Given the description of an element on the screen output the (x, y) to click on. 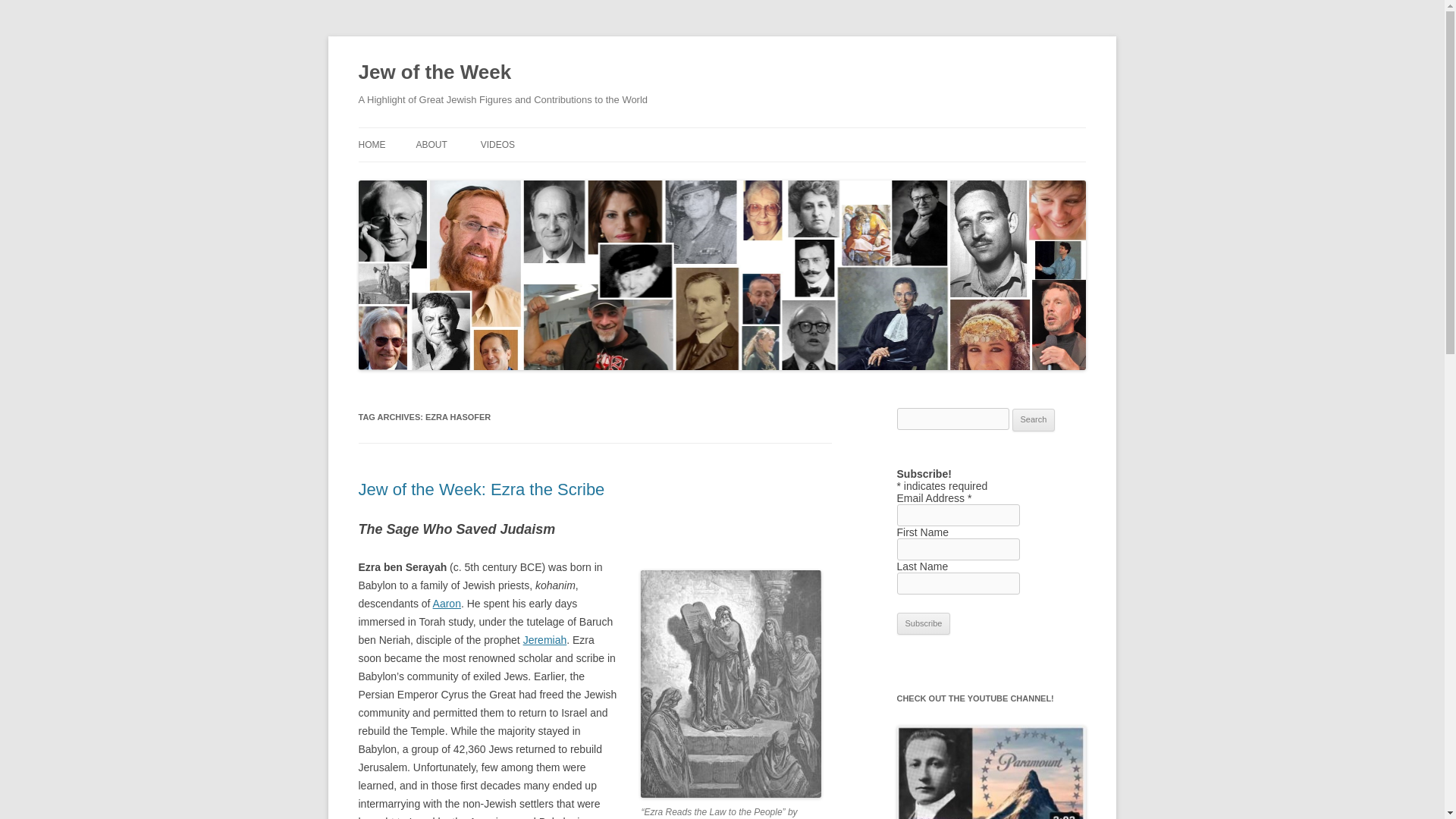
Jew of the Week (434, 72)
Subscribe (923, 623)
Search (1033, 419)
Jeremiah (544, 639)
ABOUT (430, 144)
Jew of the Week: Ezra the Scribe (481, 488)
Aaron (446, 603)
Subscribe (923, 623)
Jew of the Week (434, 72)
VIDEOS (497, 144)
Search (1033, 419)
